Given the description of an element on the screen output the (x, y) to click on. 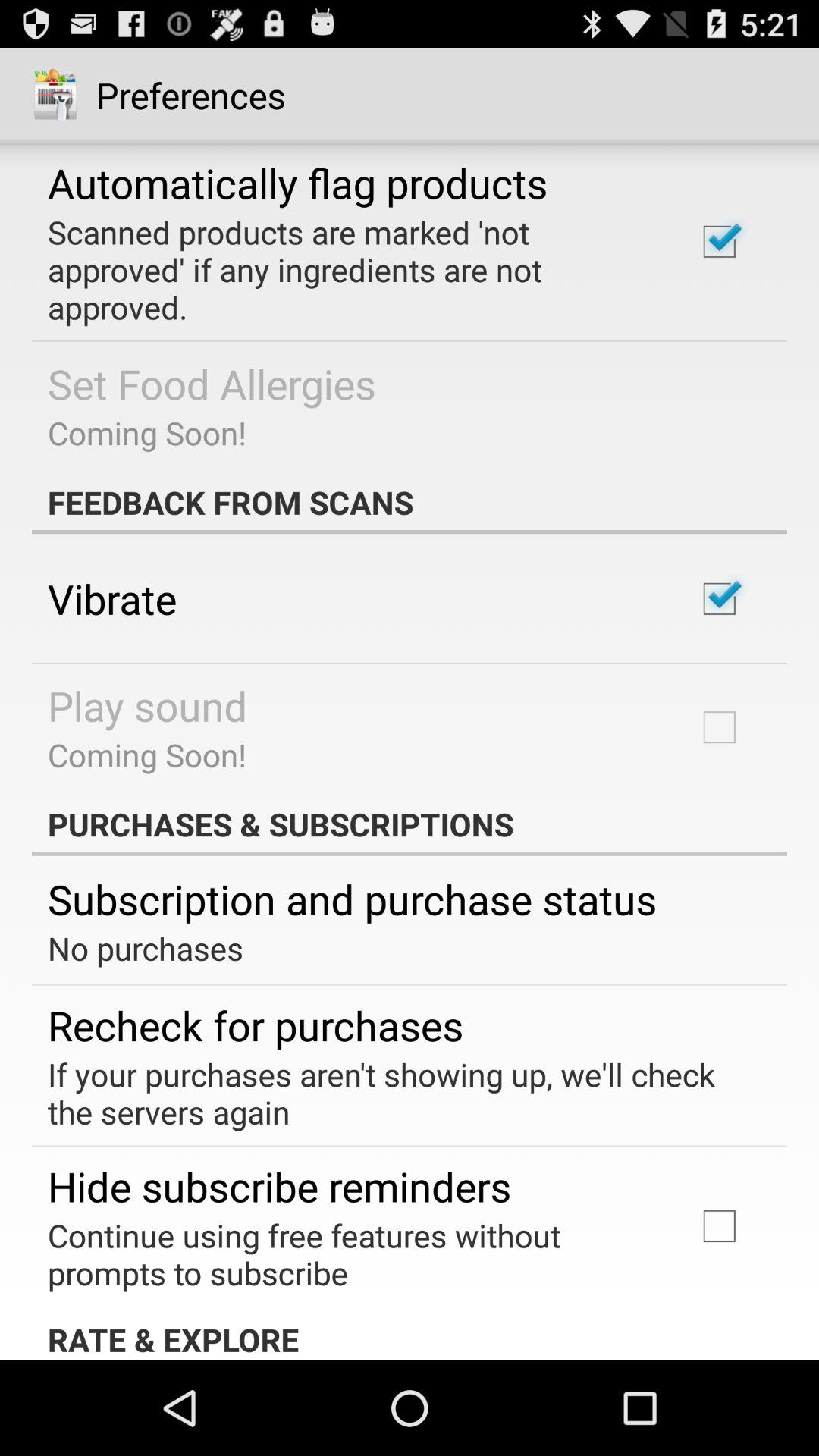
turn off item below the purchases & subscriptions (351, 898)
